Given the description of an element on the screen output the (x, y) to click on. 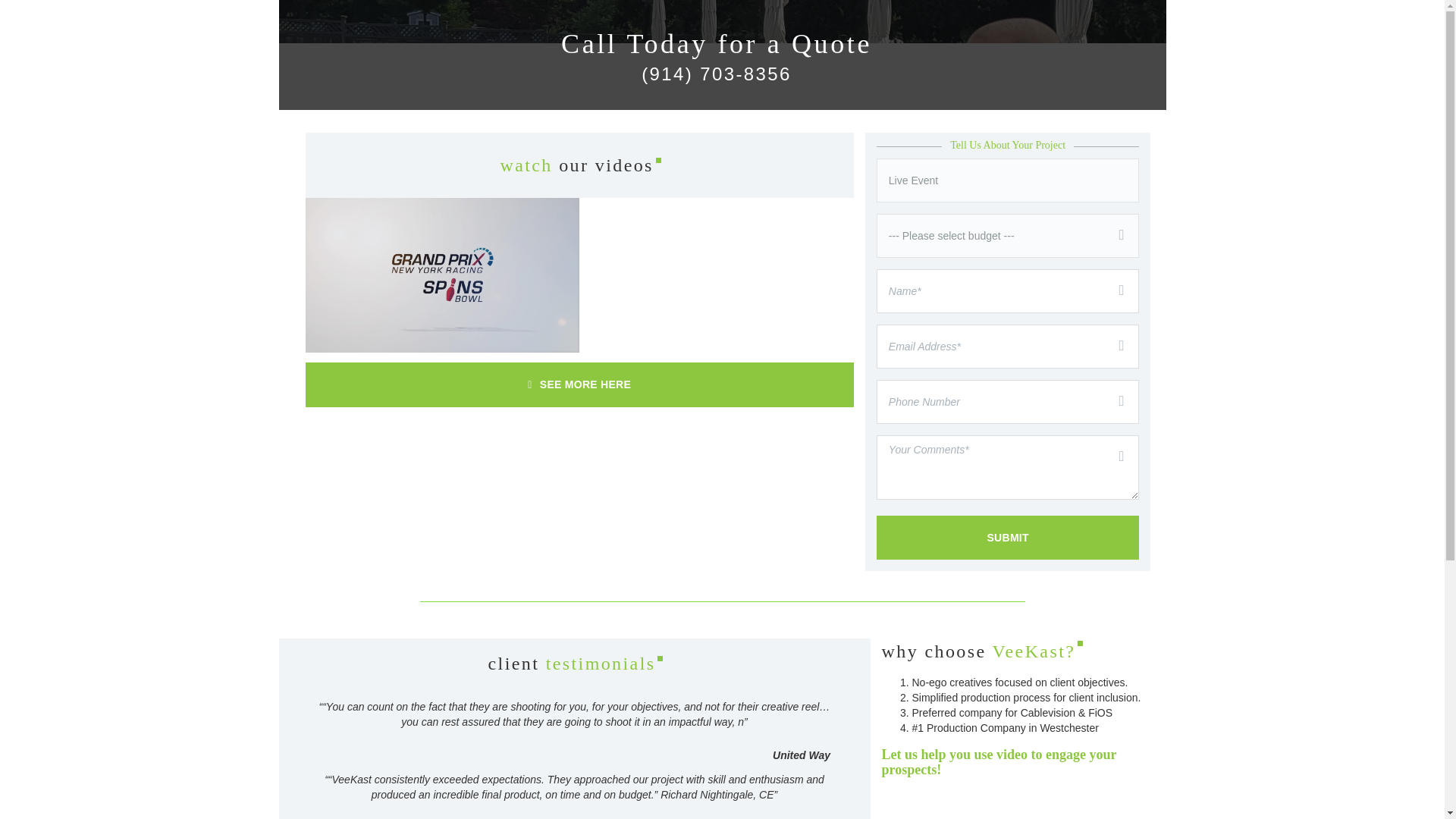
SUBMIT (1008, 537)
SUBMIT (1008, 537)
SEE MORE HERE (578, 384)
